Given the description of an element on the screen output the (x, y) to click on. 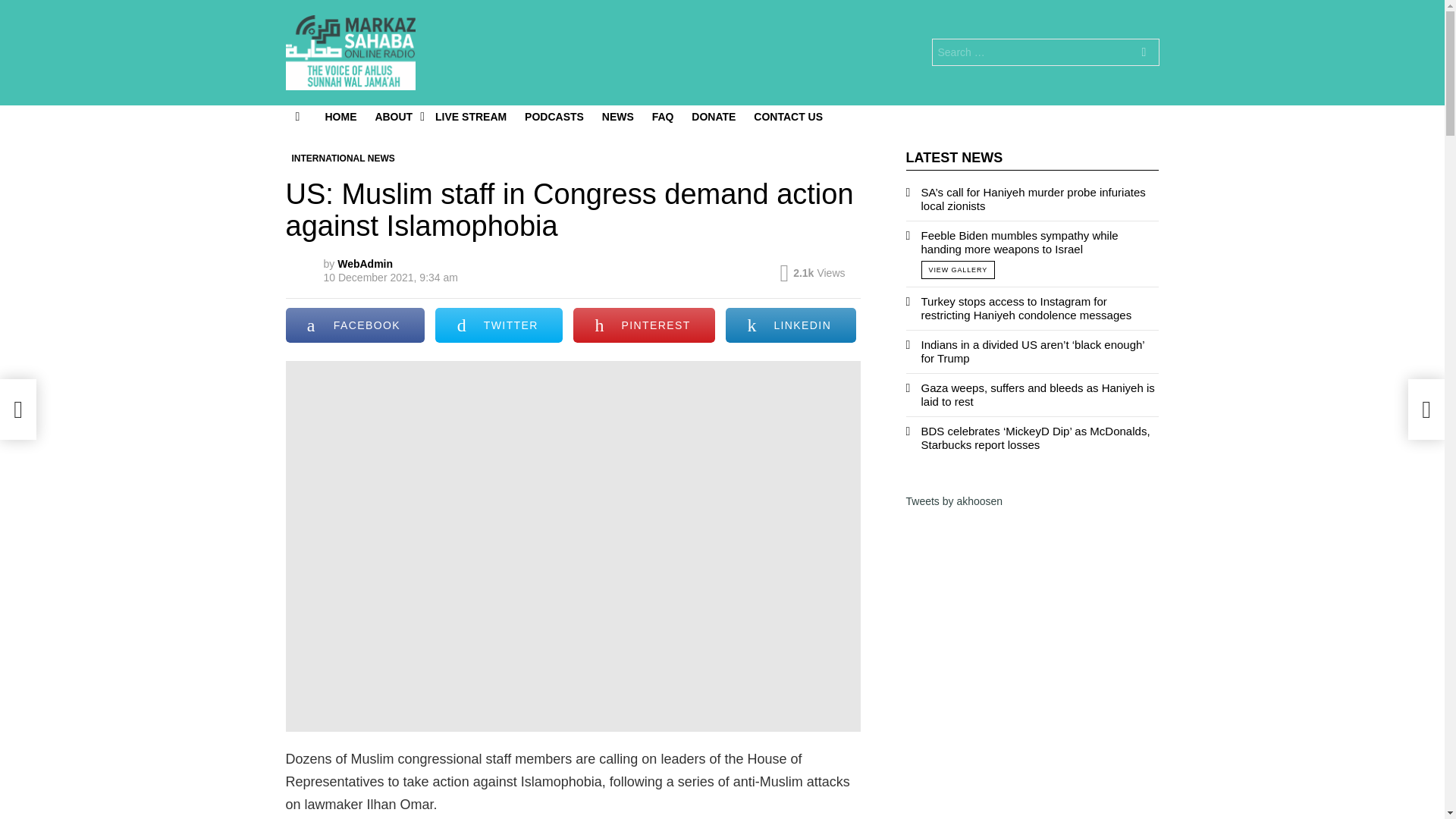
PINTEREST (643, 325)
Share on LinkedIn (790, 325)
FACEBOOK (355, 325)
DONATE (713, 116)
LINKEDIN (790, 325)
Posts by WebAdmin (365, 263)
INTERNATIONAL NEWS (342, 158)
Search for: (1044, 52)
SEARCH (1143, 53)
LIVE STREAM (470, 116)
Menu (296, 116)
Share on Facebook (355, 325)
CONTACT US (787, 116)
ABOUT (395, 116)
Share on Twitter (498, 325)
